Given the description of an element on the screen output the (x, y) to click on. 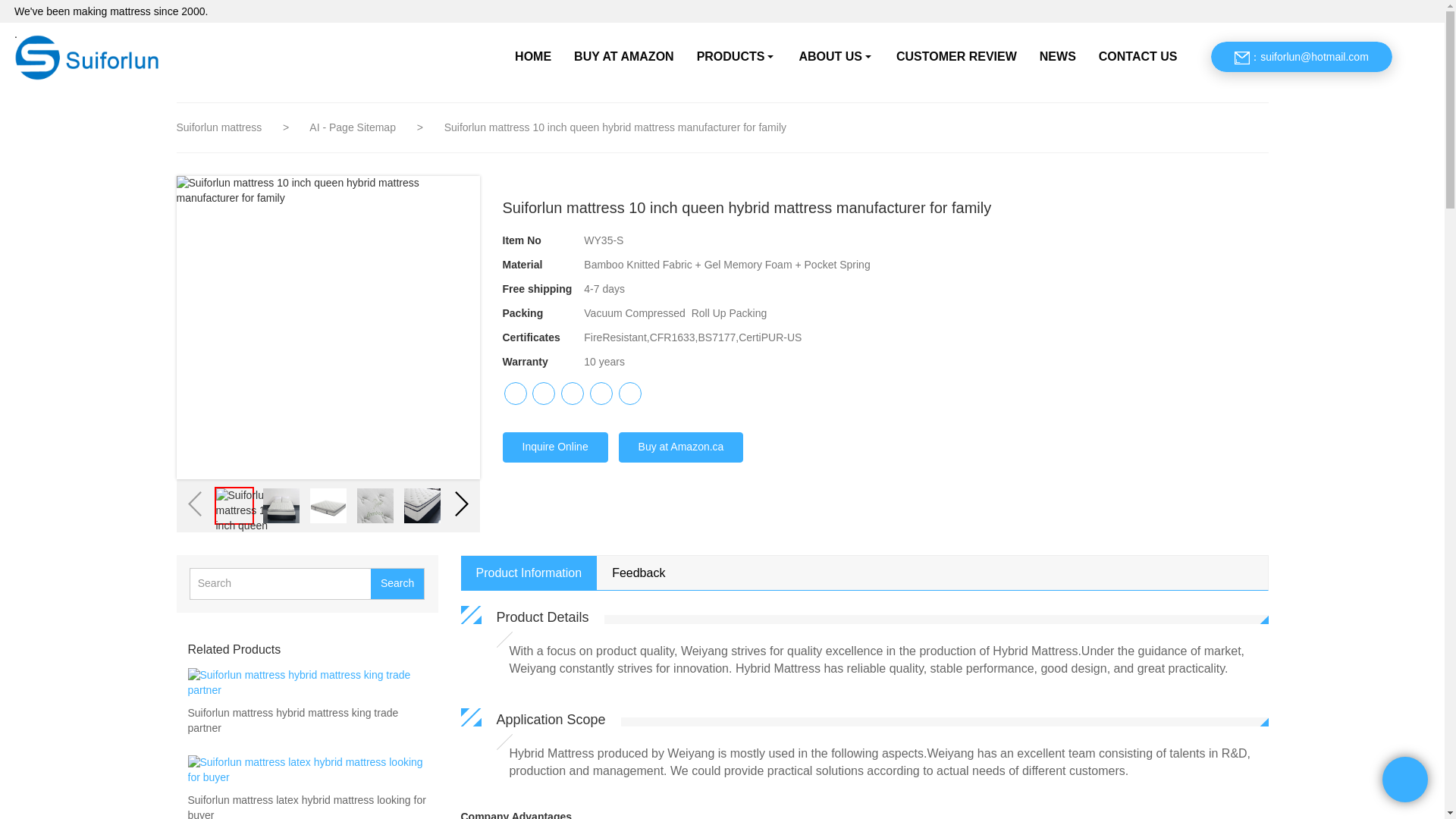
Inquire Online (554, 447)
Suiforlun mattress latex hybrid mattress looking for buyer (306, 806)
Search (397, 583)
Suiforlun mattress hybrid mattress king trade partner (306, 720)
Buy at Amazon.ca (681, 447)
PRODUCTS (736, 56)
CUSTOMER REVIEW (956, 56)
Suiforlun mattress hybrid mattress king trade partner (306, 720)
Suiforlun mattress (220, 127)
CONTACT US (1138, 56)
